Given the description of an element on the screen output the (x, y) to click on. 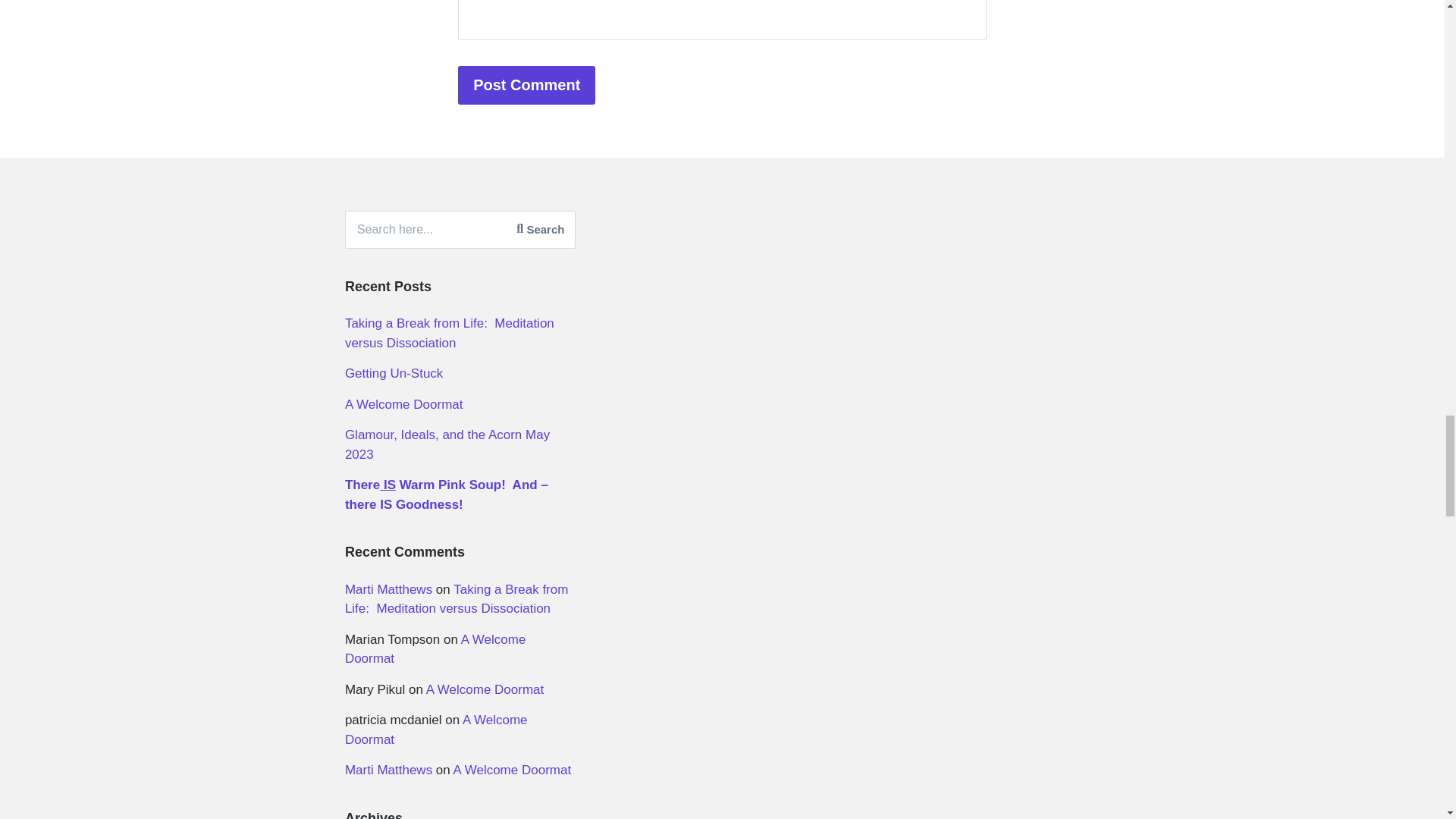
Taking a Break from Life:  Meditation versus Dissociation (449, 333)
Post Comment (526, 85)
Search (540, 229)
Post Comment (526, 85)
Getting Un-Stuck (393, 373)
